Given the description of an element on the screen output the (x, y) to click on. 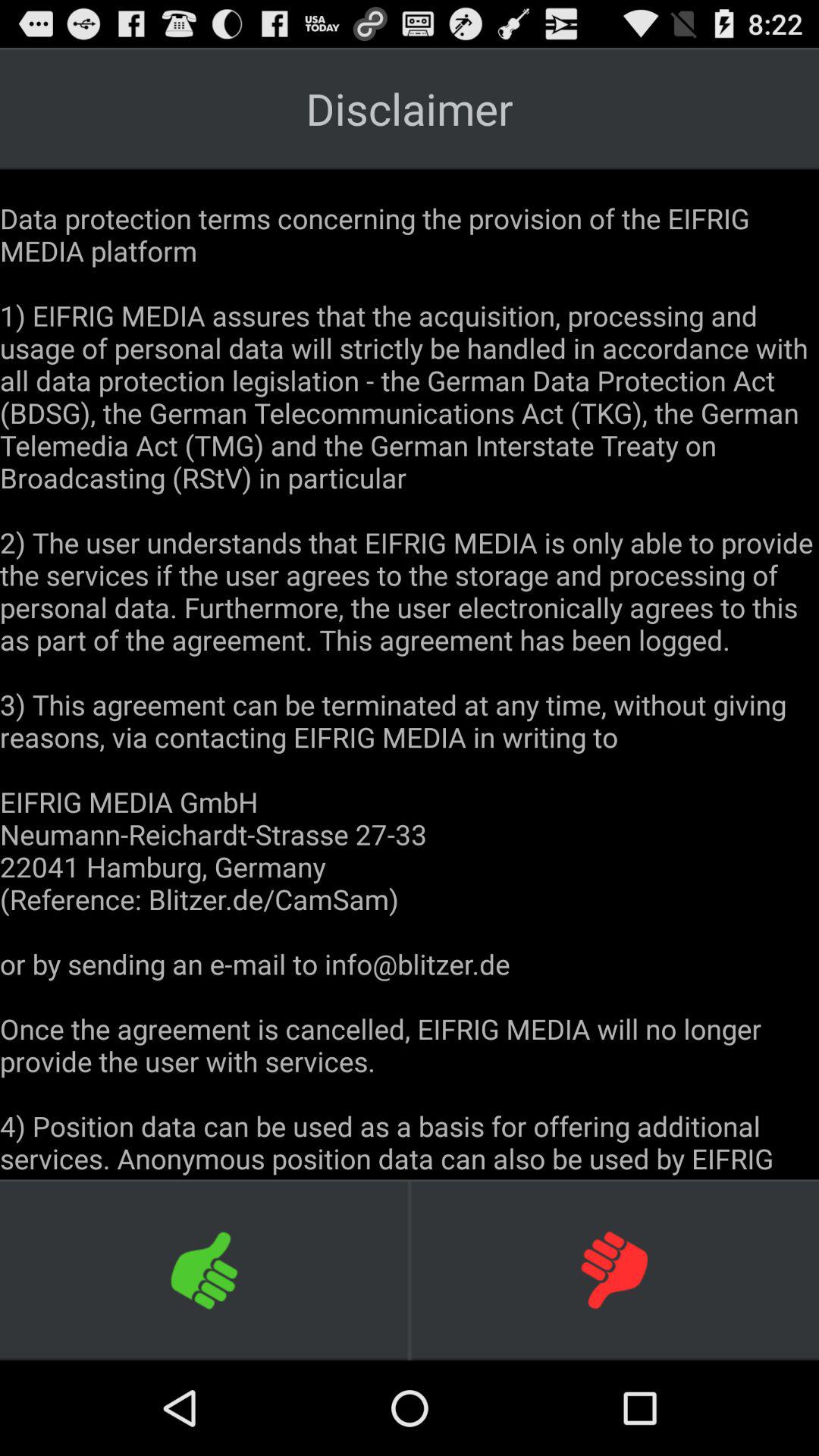
select icon at the bottom right corner (614, 1269)
